Given the description of an element on the screen output the (x, y) to click on. 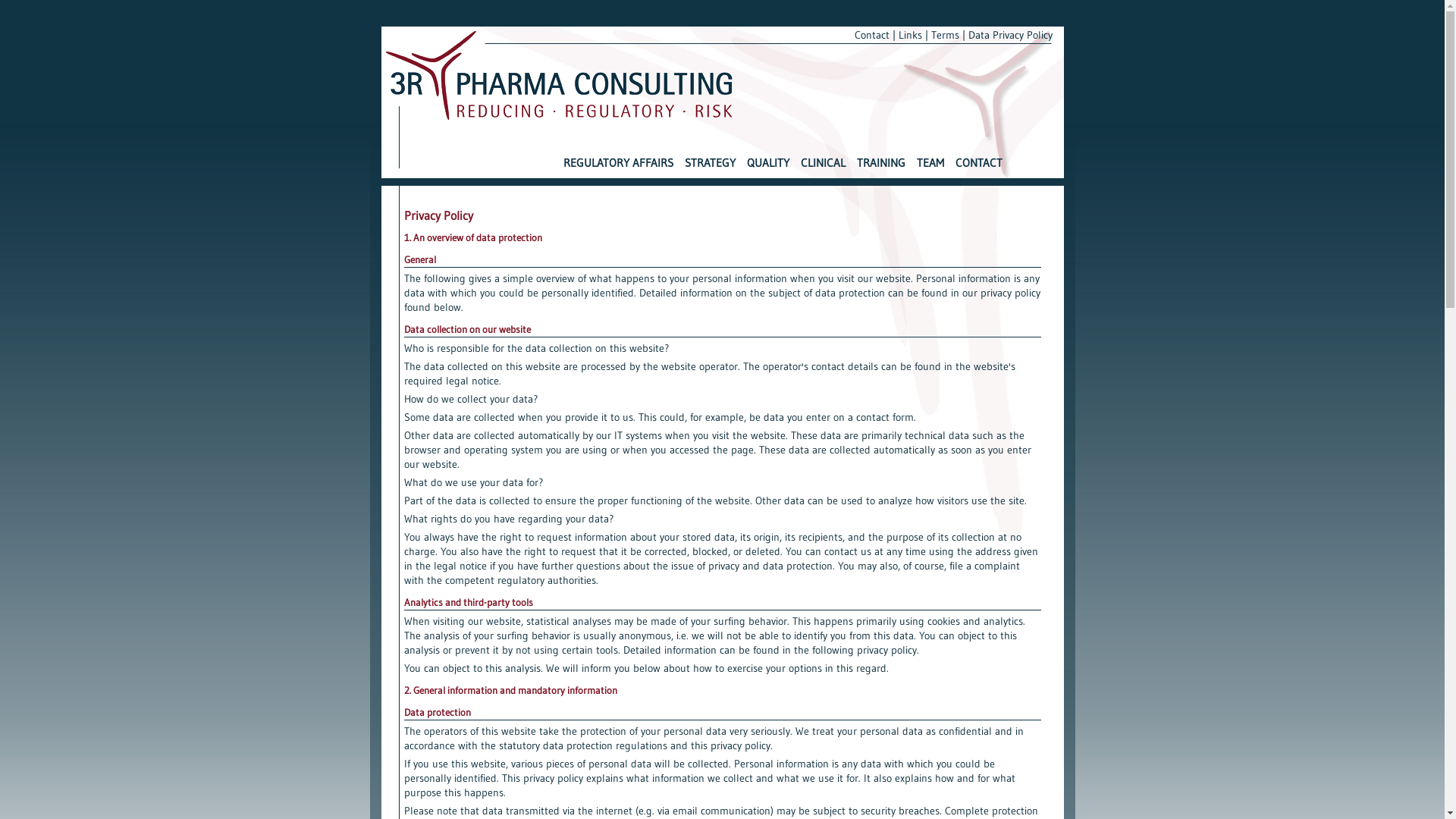
CLINICAL Element type: text (822, 168)
CONTACT Element type: text (978, 168)
REGULATORY AFFAIRS Element type: text (617, 168)
Terms Element type: text (945, 34)
QUALITY Element type: text (767, 168)
SKIP NAVIGATION Element type: text (559, 159)
STRATEGY Element type: text (708, 168)
TEAM Element type: text (929, 168)
Links Element type: text (909, 34)
TRAINING Element type: text (880, 168)
Data Privacy Policy Element type: text (1009, 34)
Contact Element type: text (870, 34)
